Given the description of an element on the screen output the (x, y) to click on. 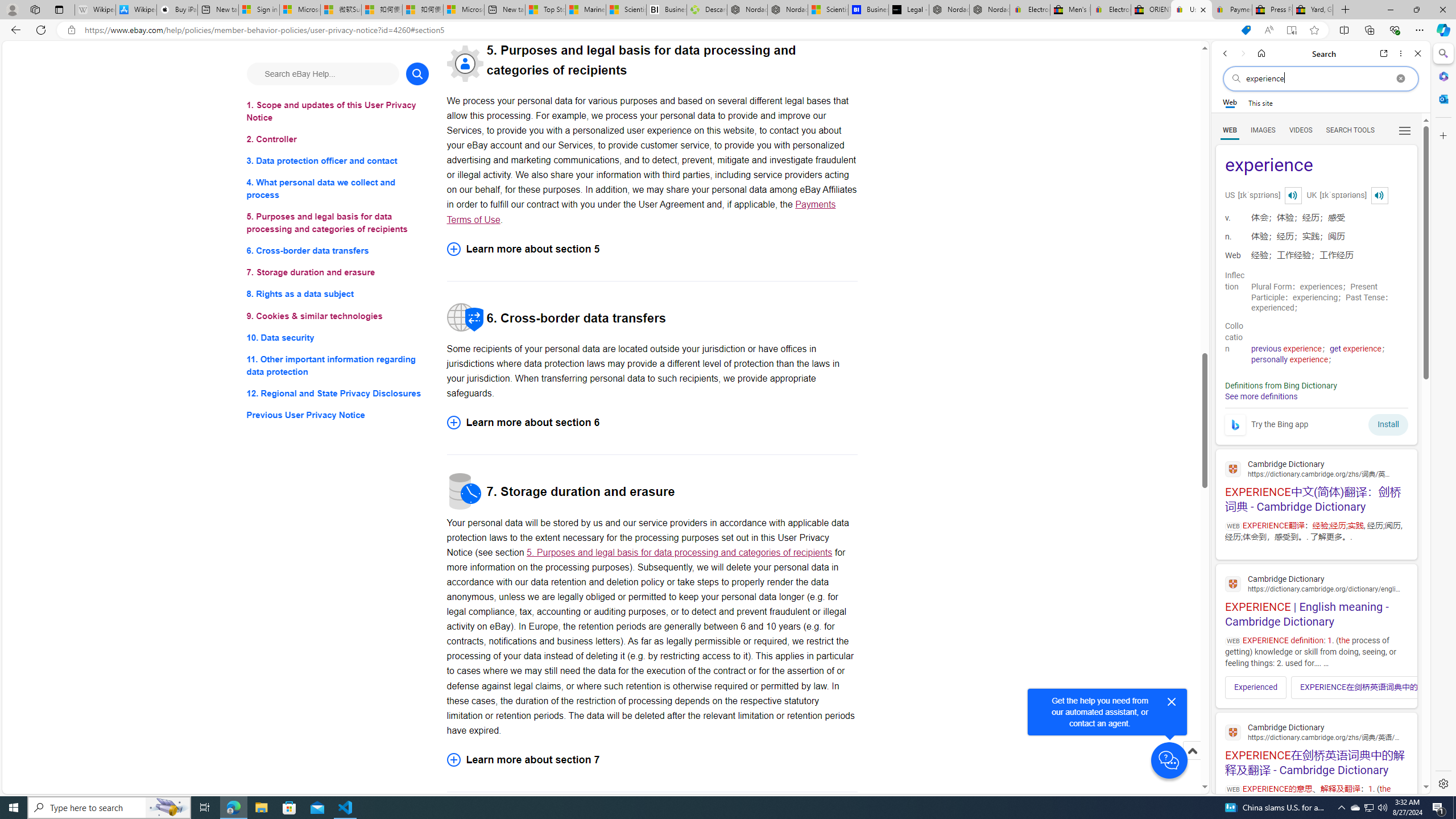
3. Data protection officer and contact (337, 160)
previous experience (1286, 348)
11. Other important information regarding data protection (337, 365)
Experienced (1255, 687)
